Given the description of an element on the screen output the (x, y) to click on. 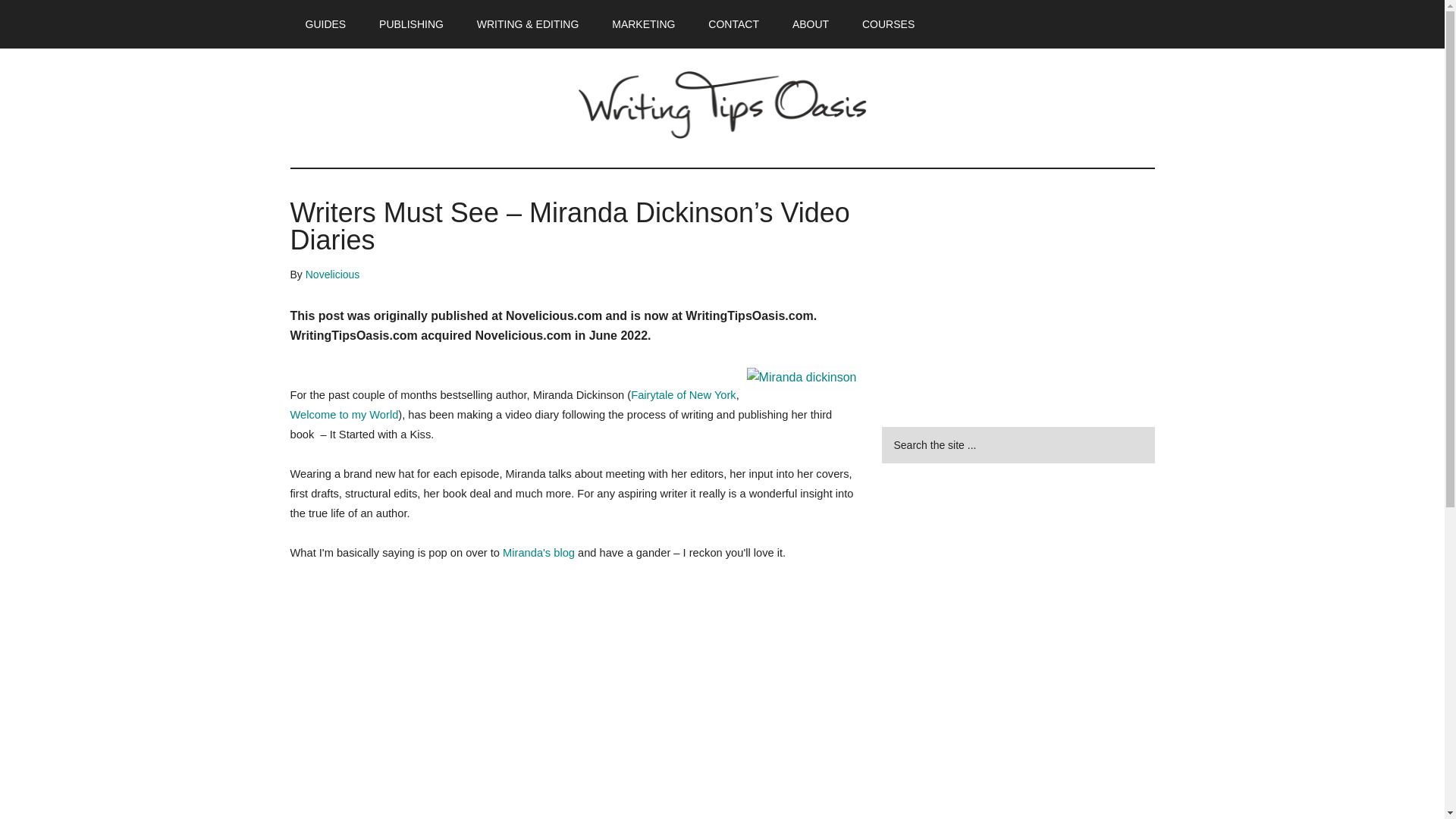
Fairytale of New York (682, 395)
Miranda's blog (538, 552)
ABOUT (810, 24)
COURSES (888, 24)
CONTACT (733, 24)
GUIDES (325, 24)
